Given the description of an element on the screen output the (x, y) to click on. 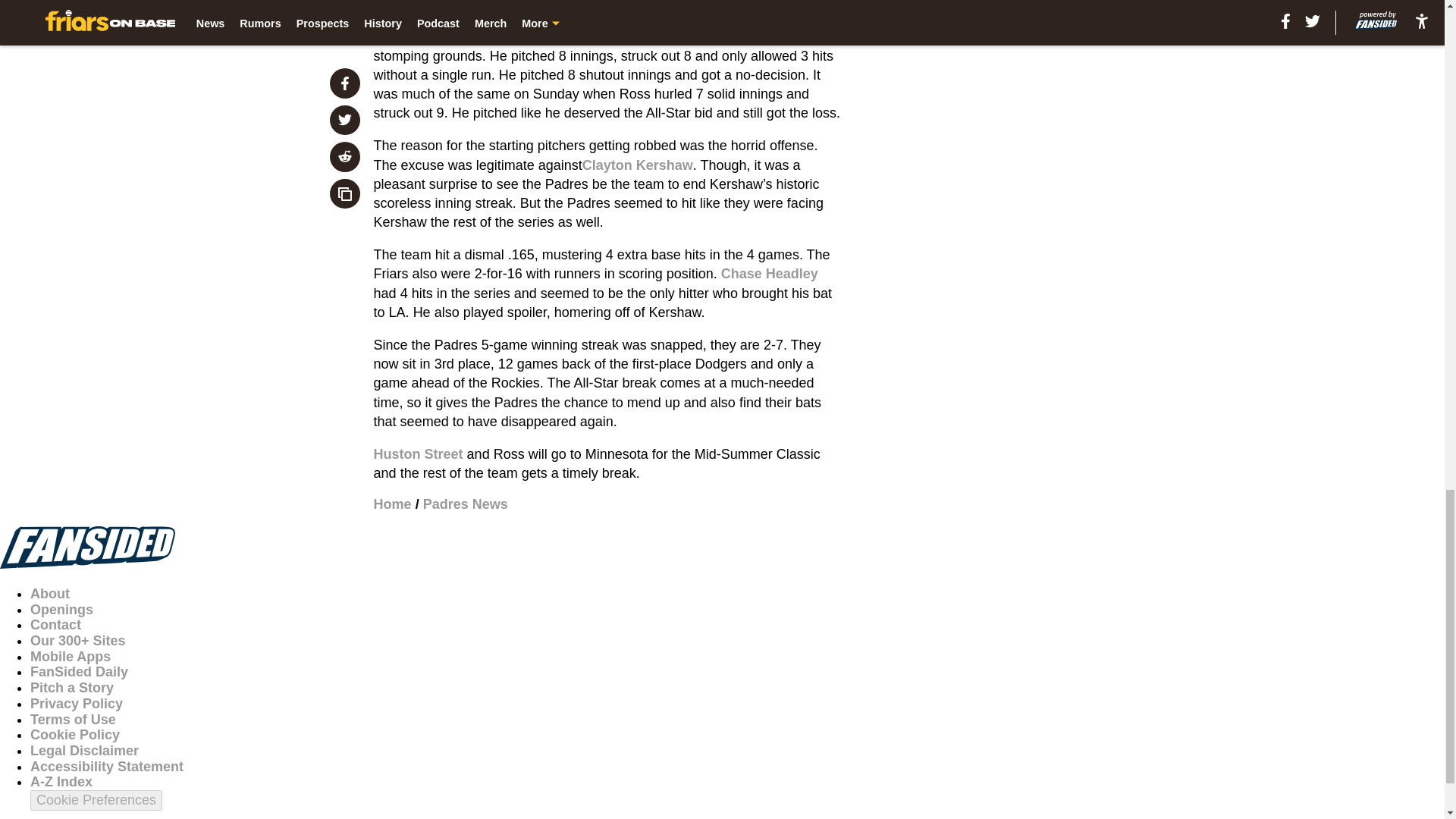
Sandy Koufax (667, 36)
Huston Street (418, 453)
Clayton Kershaw (637, 165)
Chase Headley (769, 273)
